Given the description of an element on the screen output the (x, y) to click on. 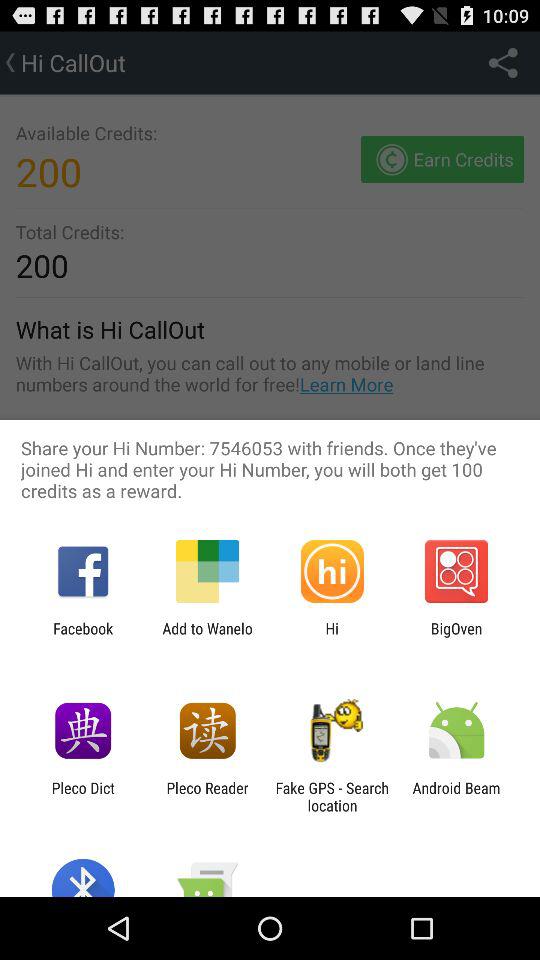
turn on item to the left of hi (207, 637)
